Given the description of an element on the screen output the (x, y) to click on. 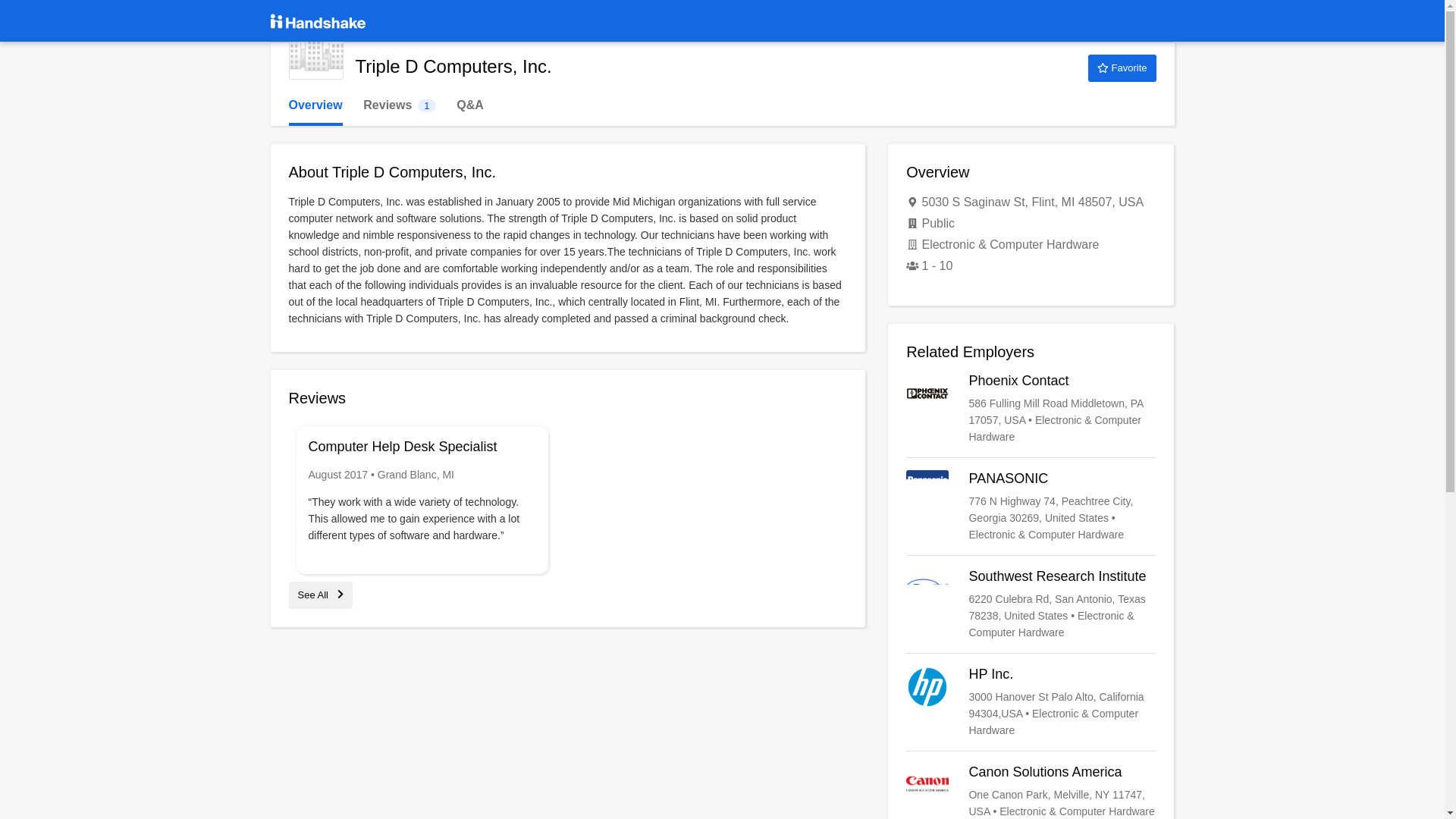
Triple D Computers, Inc. (315, 52)
Canon Solutions America (1030, 791)
Overview (315, 105)
Southwest Research Institute (1030, 604)
Phoenix Contact (1030, 408)
PANASONIC (1030, 506)
HP Inc. (1030, 701)
See All (320, 594)
Favorite (1121, 67)
